Given the description of an element on the screen output the (x, y) to click on. 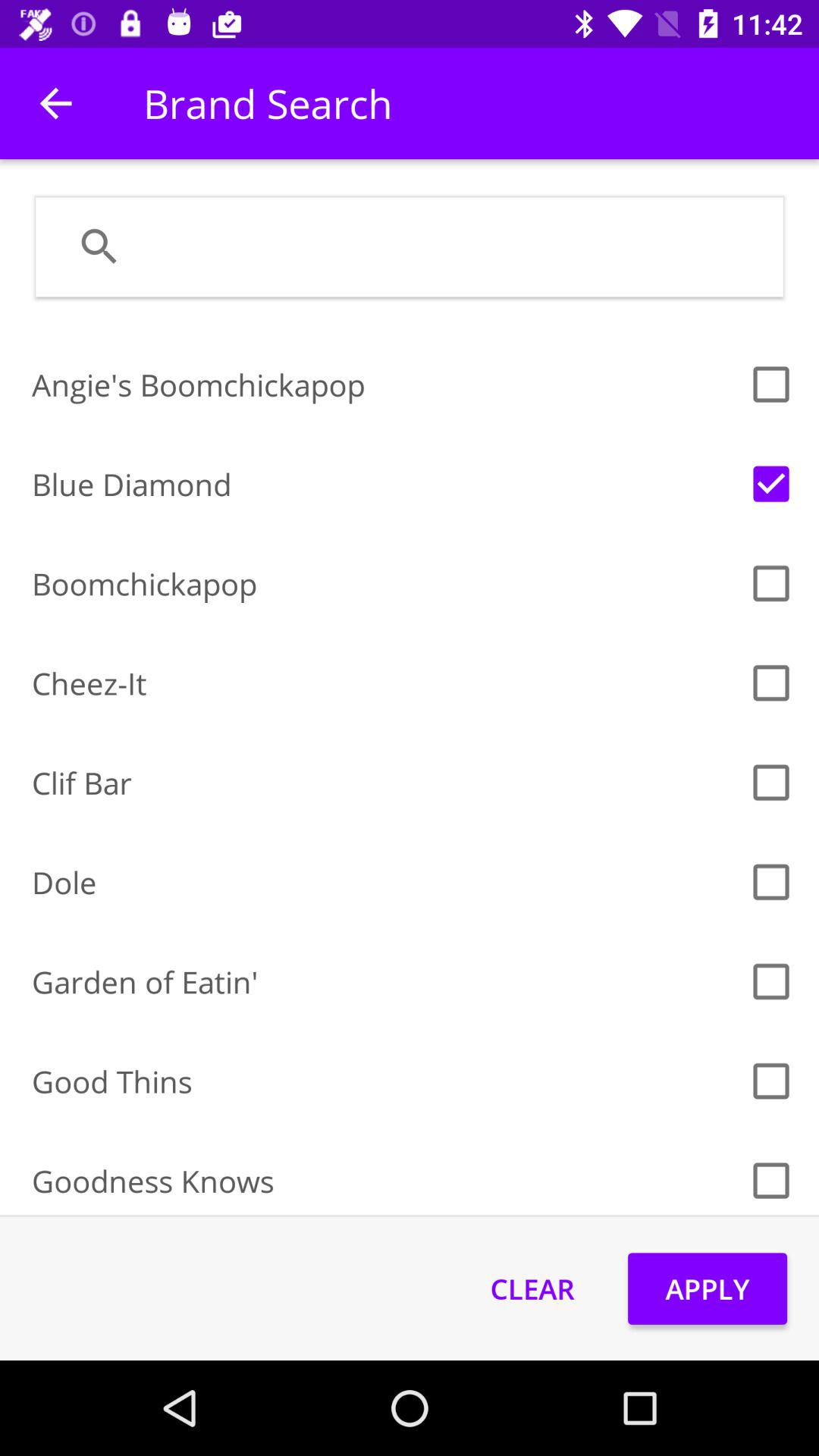
launch the item next to clear item (707, 1288)
